Given the description of an element on the screen output the (x, y) to click on. 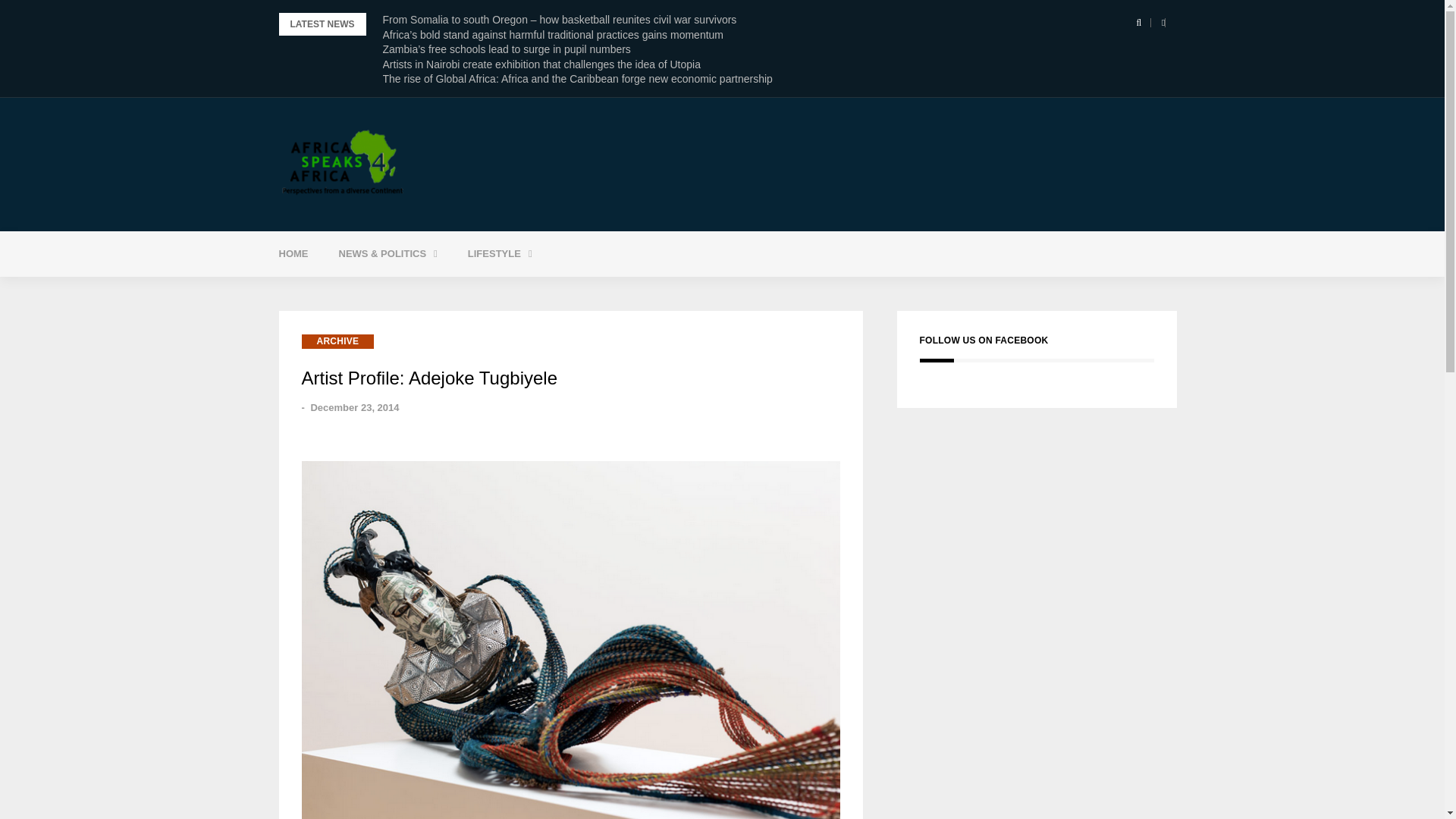
ARCHIVE (337, 341)
Home (293, 253)
December 23, 2014 (354, 407)
In The News (425, 291)
Lifestyle (499, 253)
LIFESTYLE (499, 253)
In The News (425, 291)
